Given the description of an element on the screen output the (x, y) to click on. 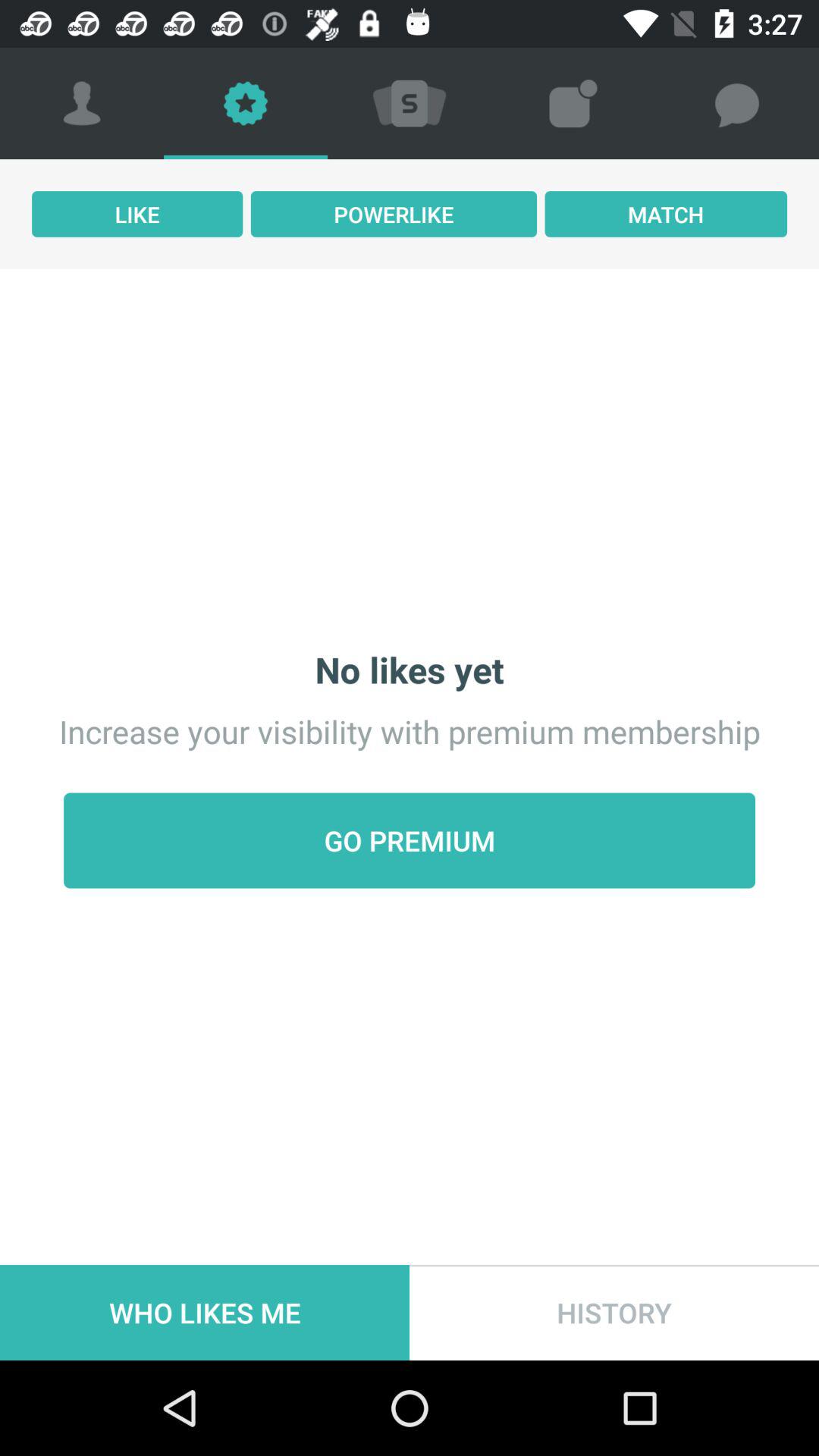
tap history (614, 1312)
